Given the description of an element on the screen output the (x, y) to click on. 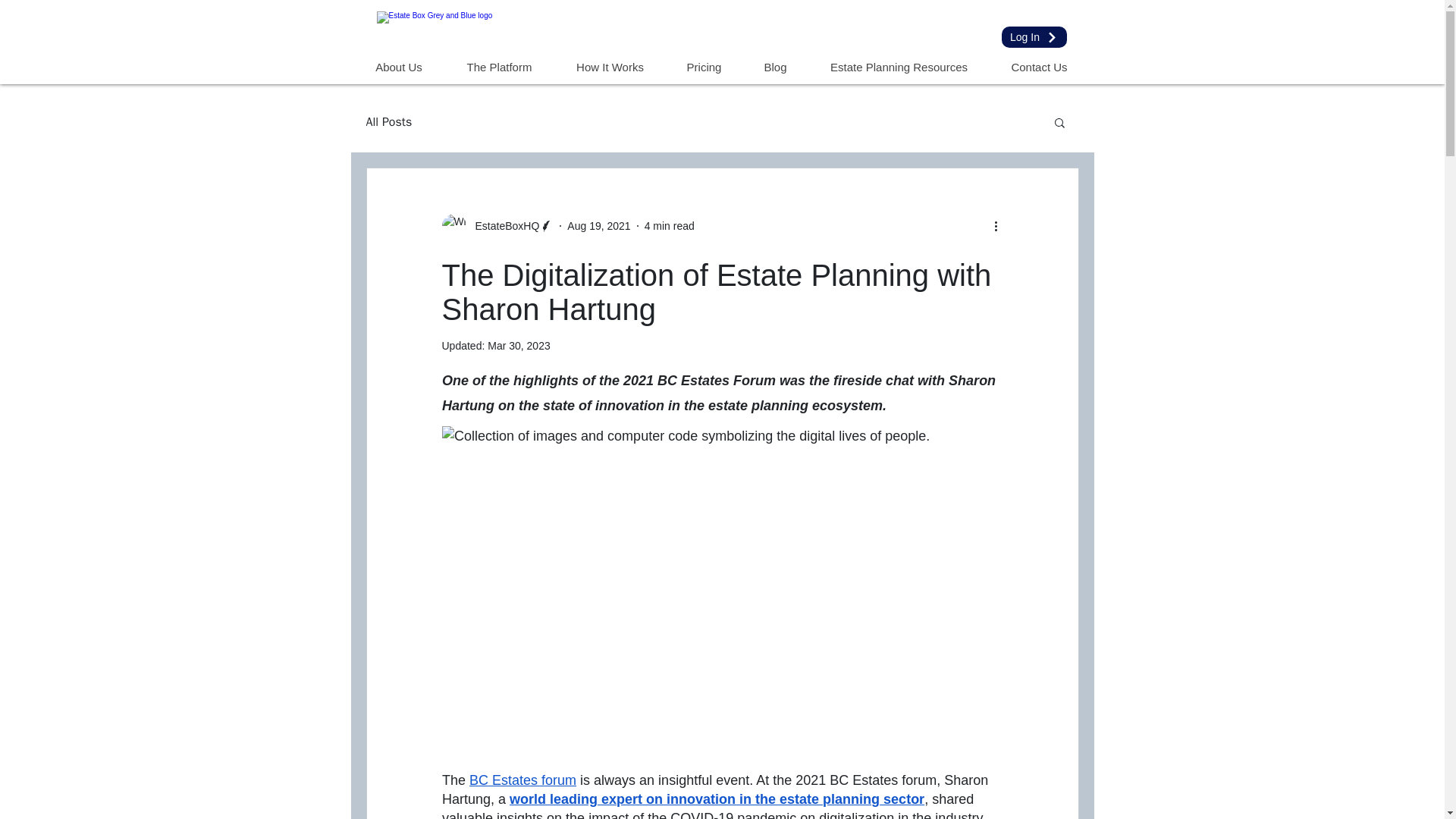
Blog (774, 66)
Contact Us (1037, 66)
All Posts (388, 121)
BC Estates forum (522, 780)
4 min read (669, 225)
About Us (398, 66)
Aug 19, 2021 (598, 225)
How It Works (609, 66)
Pricing (703, 66)
Estate Planning Resources (899, 66)
